Given the description of an element on the screen output the (x, y) to click on. 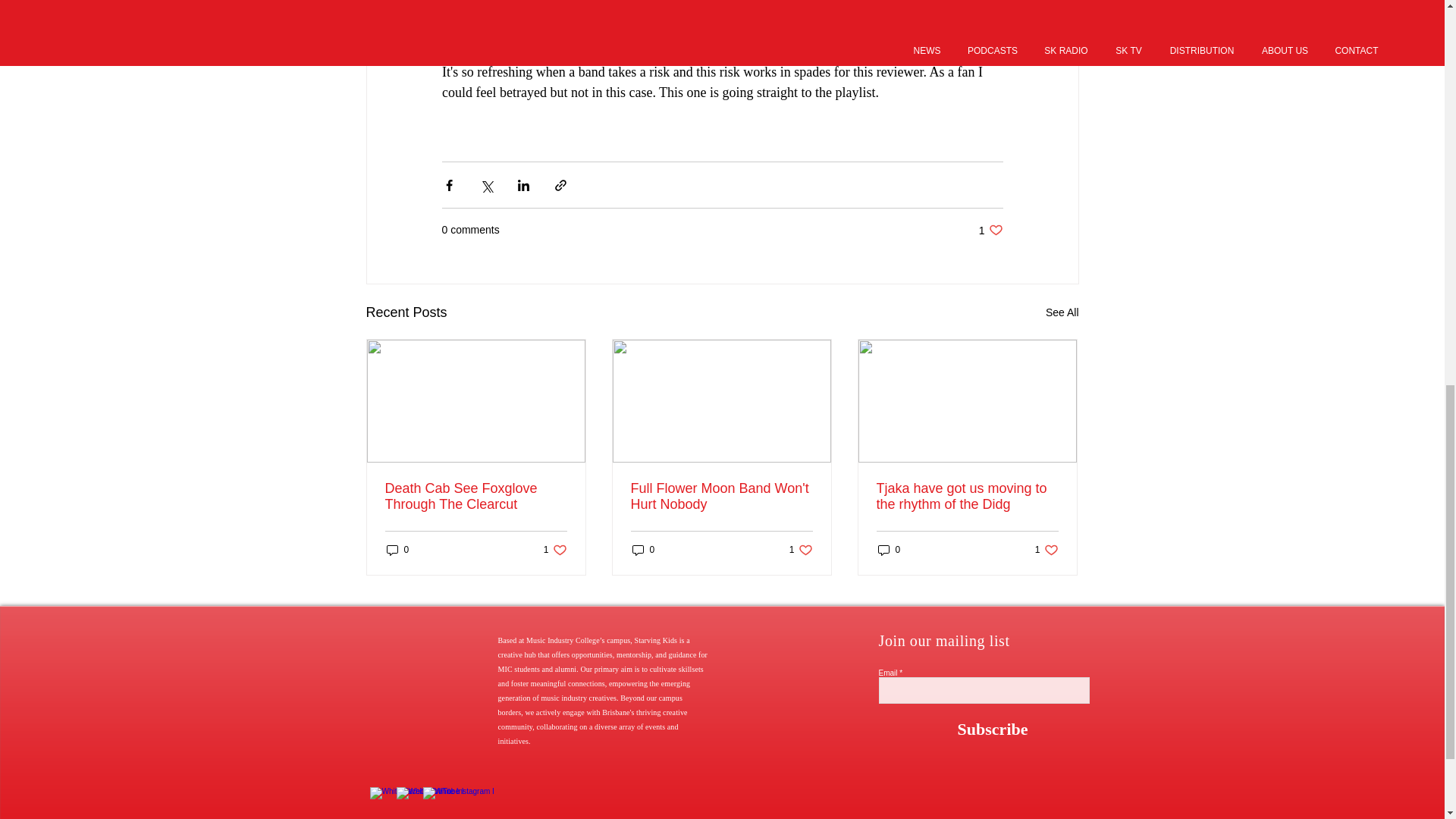
Tjaka have got us moving to the rhythm of the Didg (967, 496)
Death Cab See Foxglove Through The Clearcut (476, 496)
0 (397, 549)
0 (643, 549)
See All (1061, 312)
0 (990, 229)
Full Flower Moon Band Won't Hurt Nobody (889, 549)
